Given the description of an element on the screen output the (x, y) to click on. 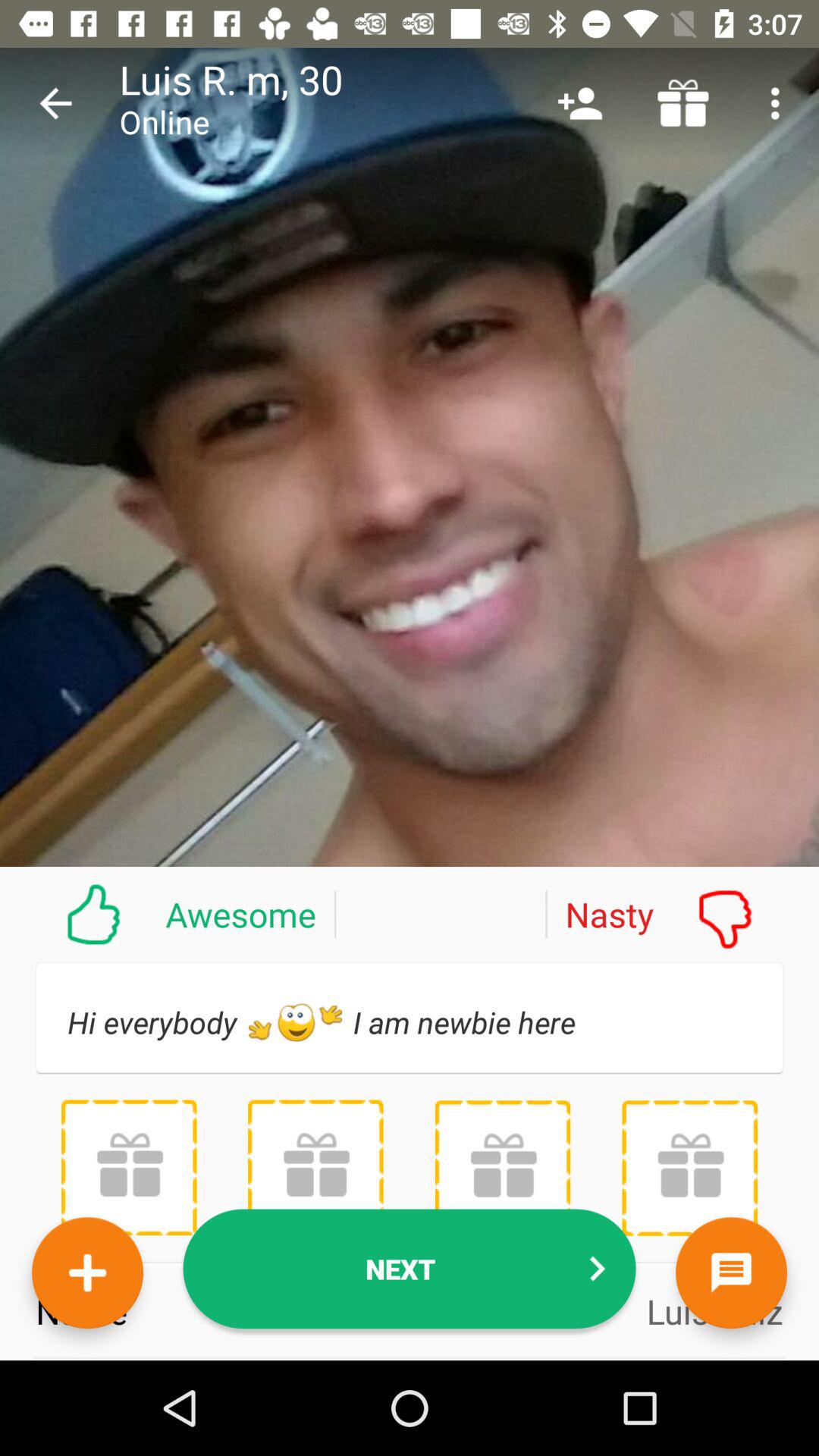
present (689, 1167)
